Given the description of an element on the screen output the (x, y) to click on. 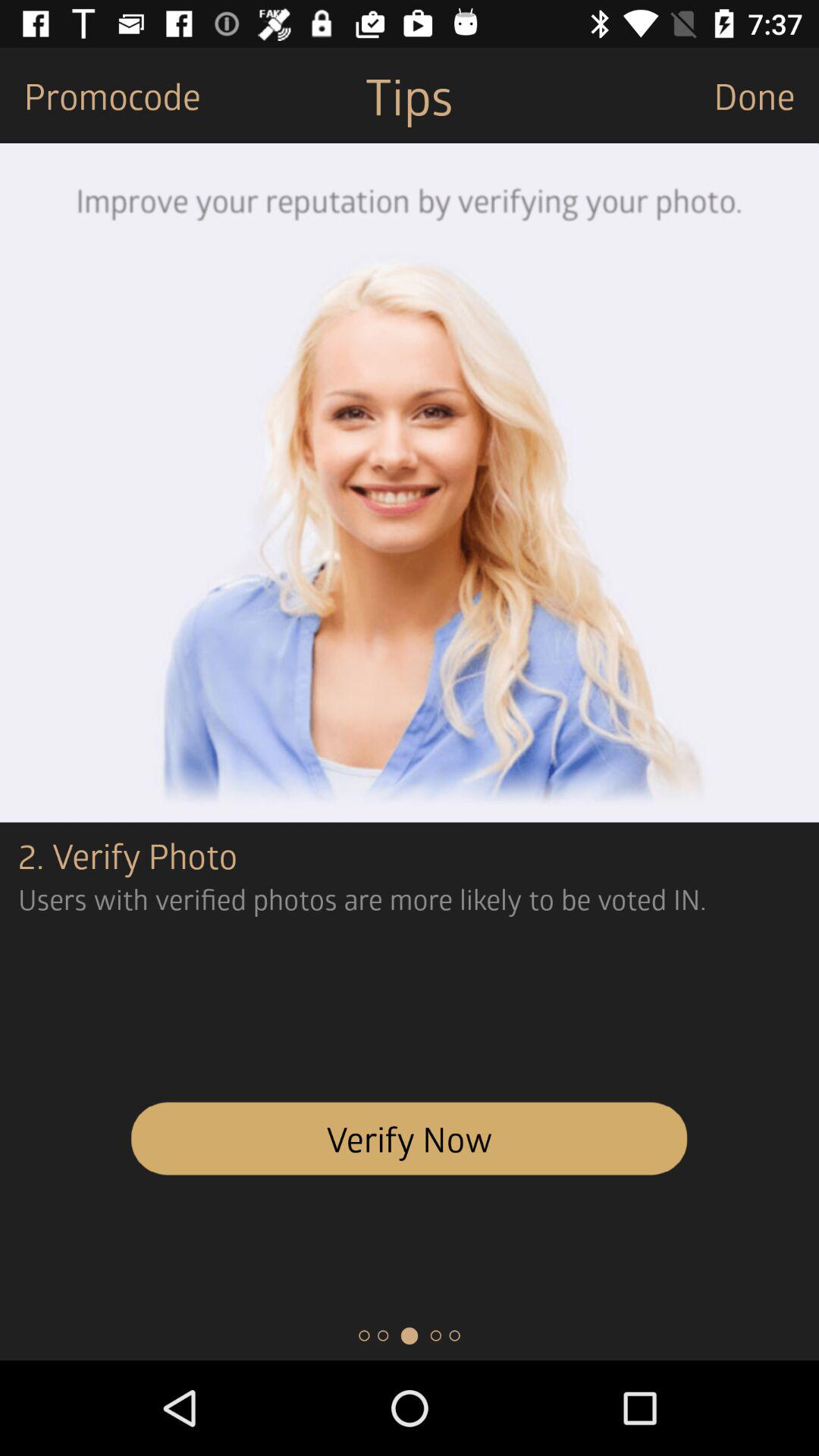
turn off promocode item (100, 95)
